Given the description of an element on the screen output the (x, y) to click on. 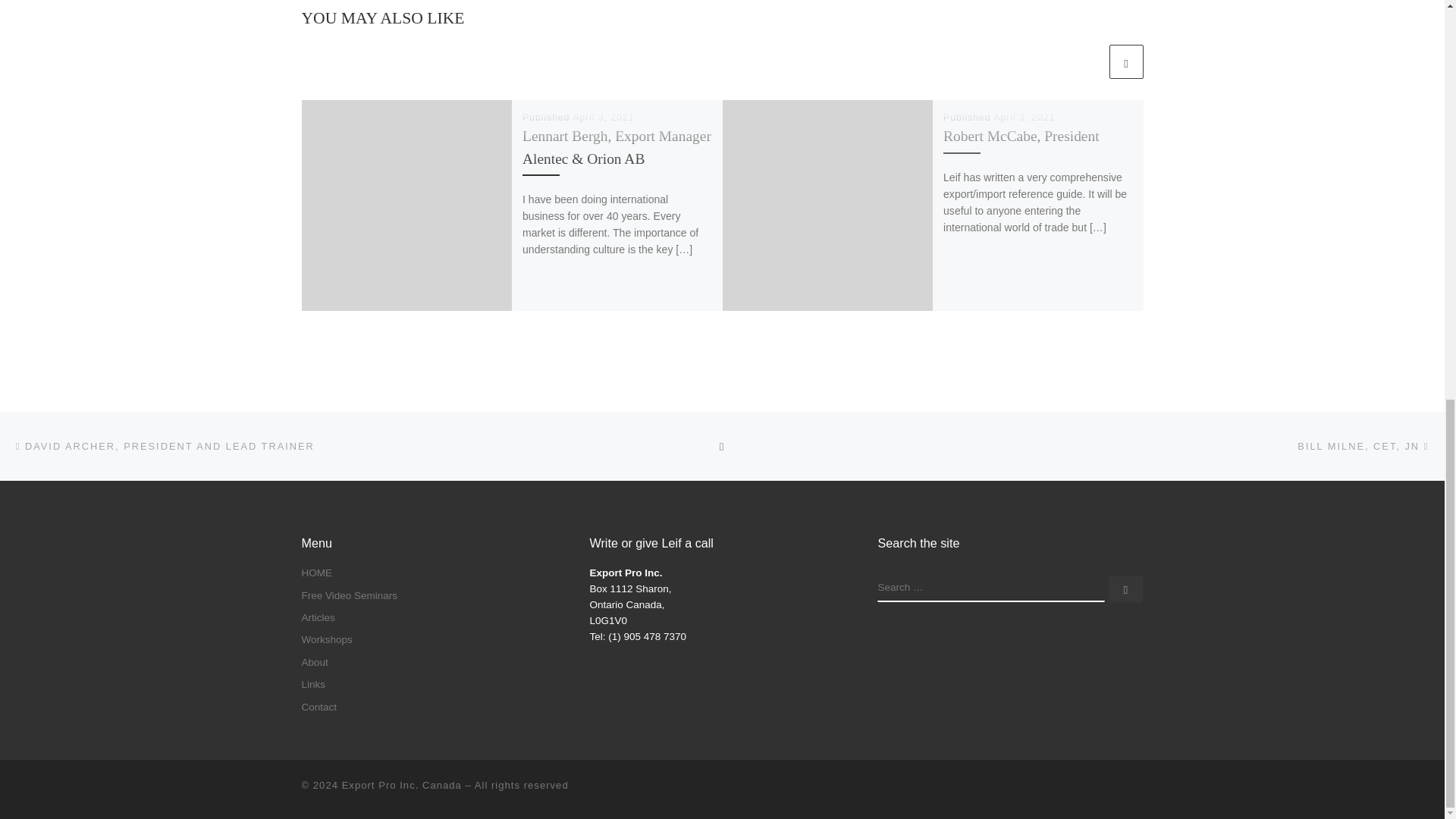
Previous related articles (1088, 61)
Next related articles (1125, 61)
Export Pro Inc. Canada (401, 785)
